Given the description of an element on the screen output the (x, y) to click on. 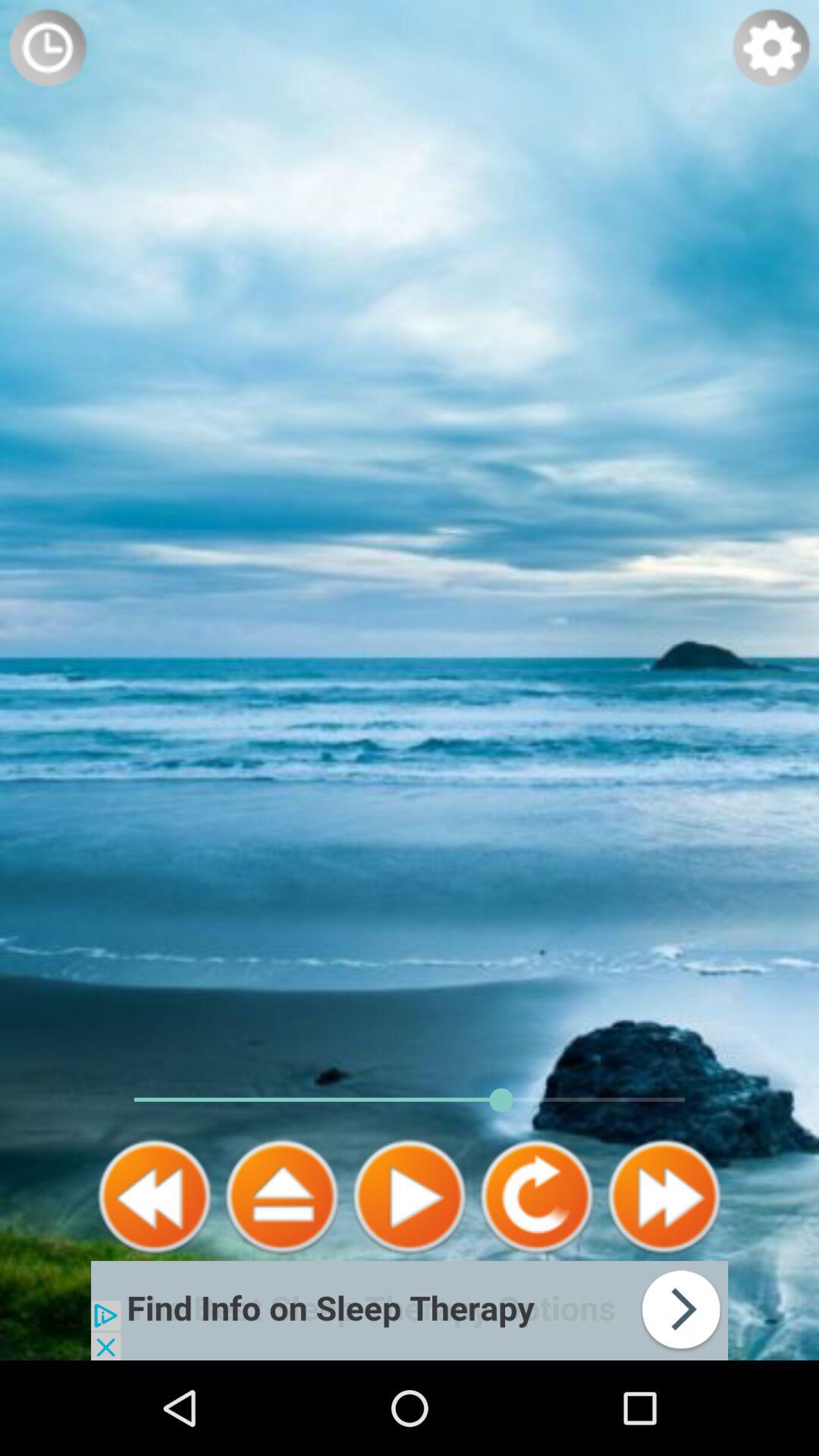
go to next song (664, 1196)
